Given the description of an element on the screen output the (x, y) to click on. 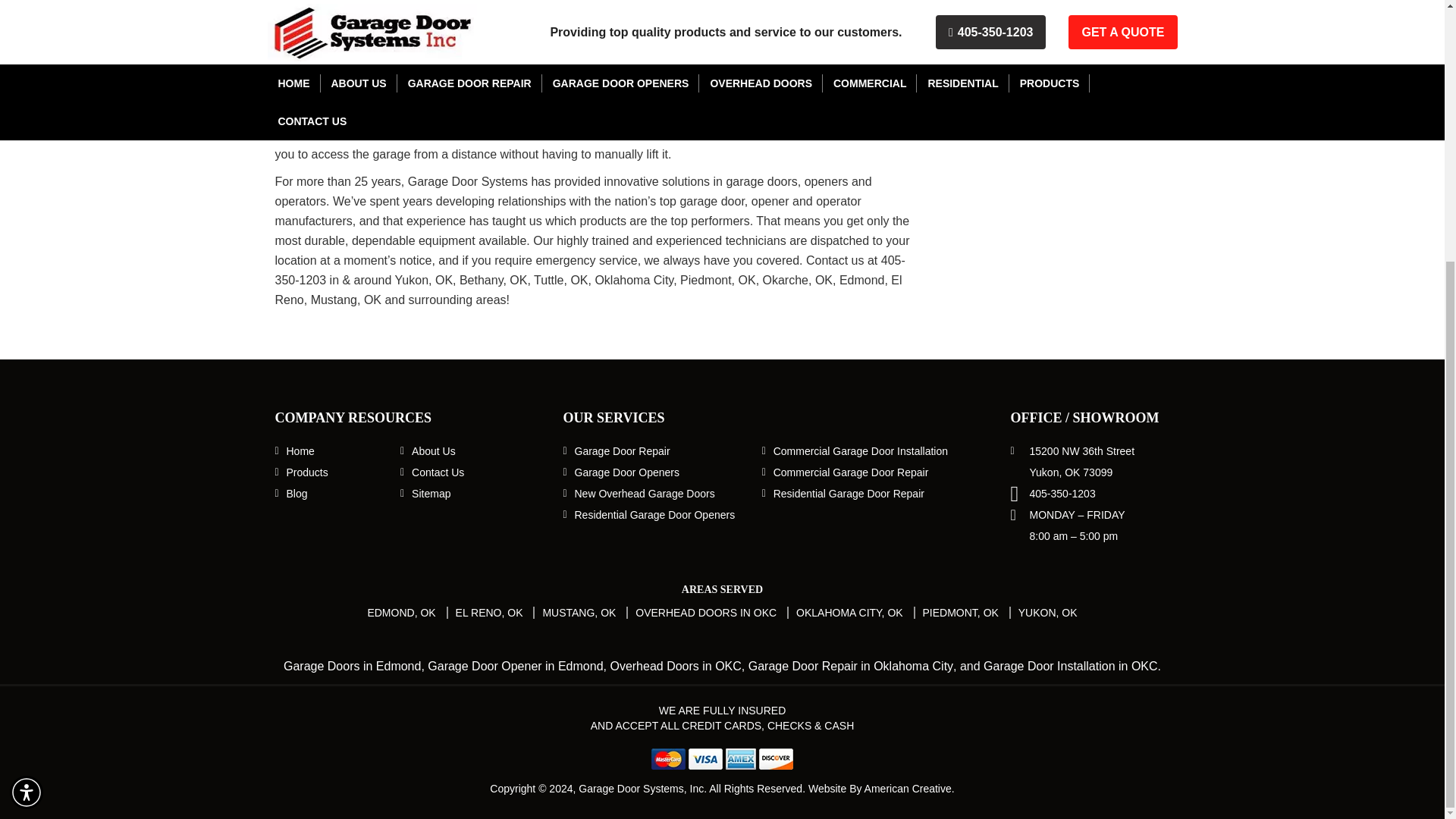
About Us (433, 451)
MUSTANG, OK (578, 612)
405-350-1203 (1062, 493)
YUKON, OK (1047, 612)
EL RENO, OK (488, 612)
Accessibility Menu (26, 417)
New Overhead Garage Doors (644, 493)
PIEDMONT, OK (960, 612)
Home (300, 451)
Residential Garage Door Repair (848, 493)
